Given the description of an element on the screen output the (x, y) to click on. 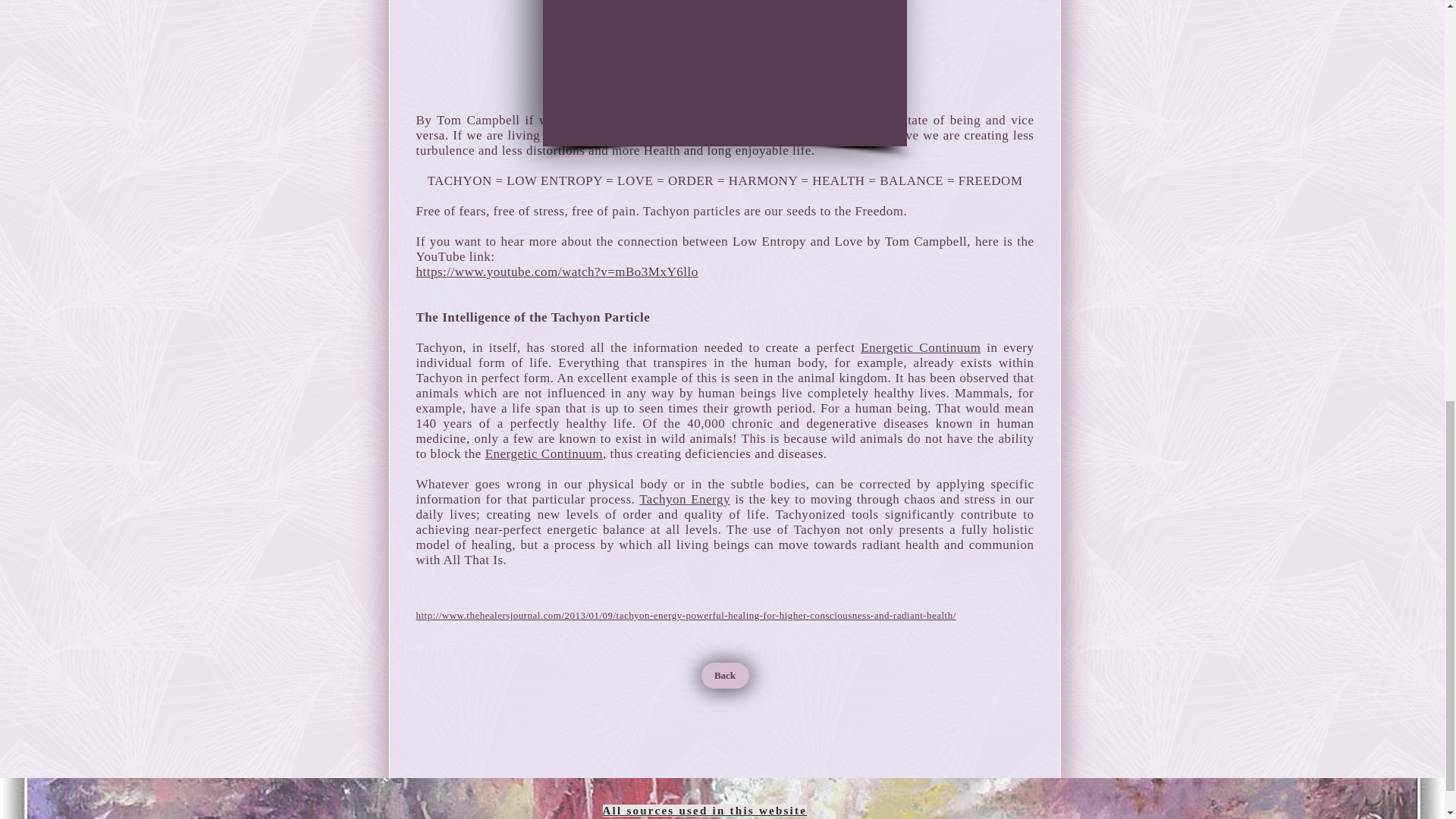
Tachyon Energy (684, 499)
Energetic Continuum (919, 347)
External YouTube (725, 71)
Energetic Continuum (543, 453)
